Given the description of an element on the screen output the (x, y) to click on. 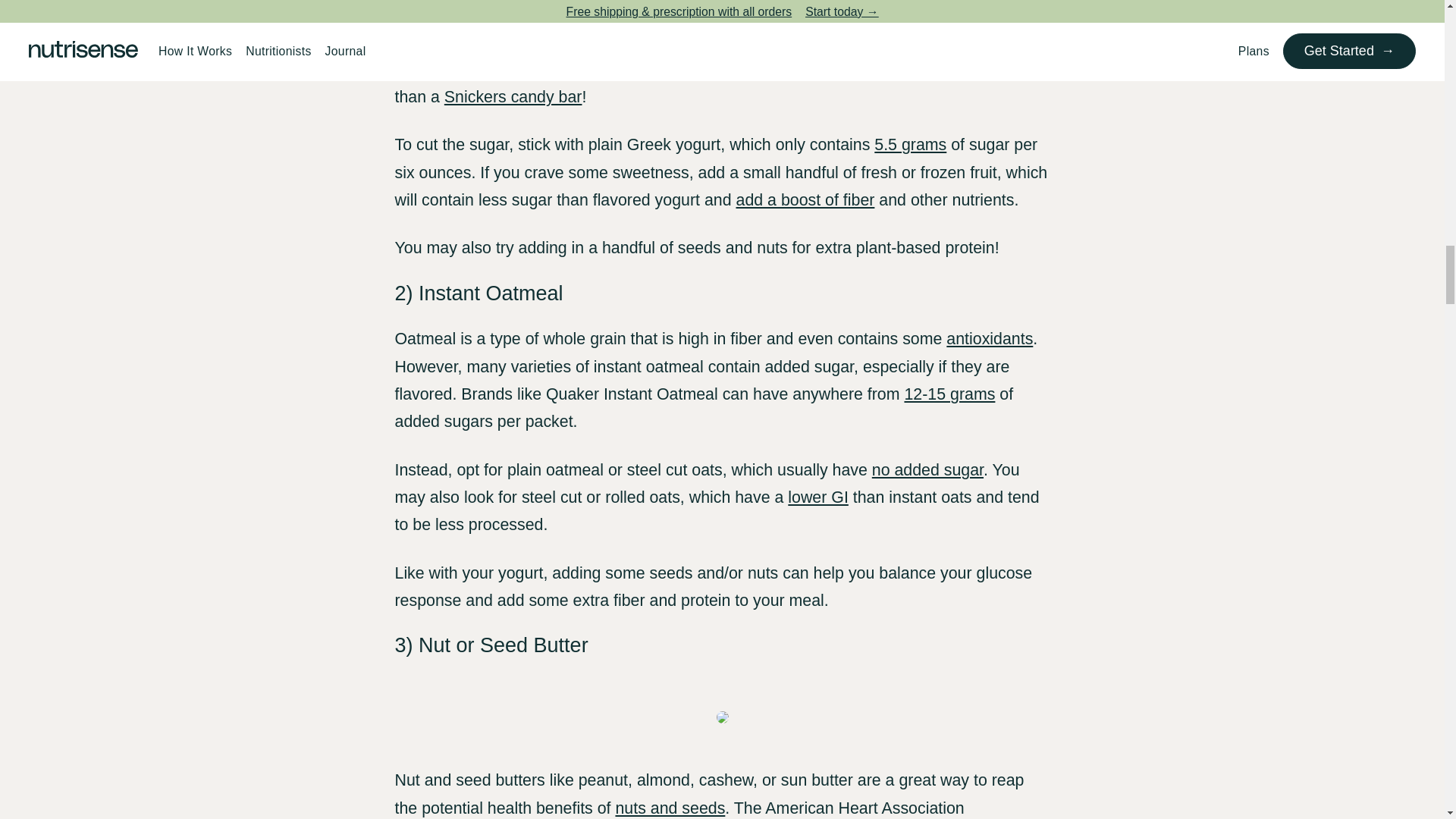
Snickers candy bar (513, 96)
add a boost of fiber (805, 199)
antioxidants (989, 339)
positive impact on bone health (596, 1)
32 grams of sugar (667, 69)
5.5 grams (910, 144)
